Given the description of an element on the screen output the (x, y) to click on. 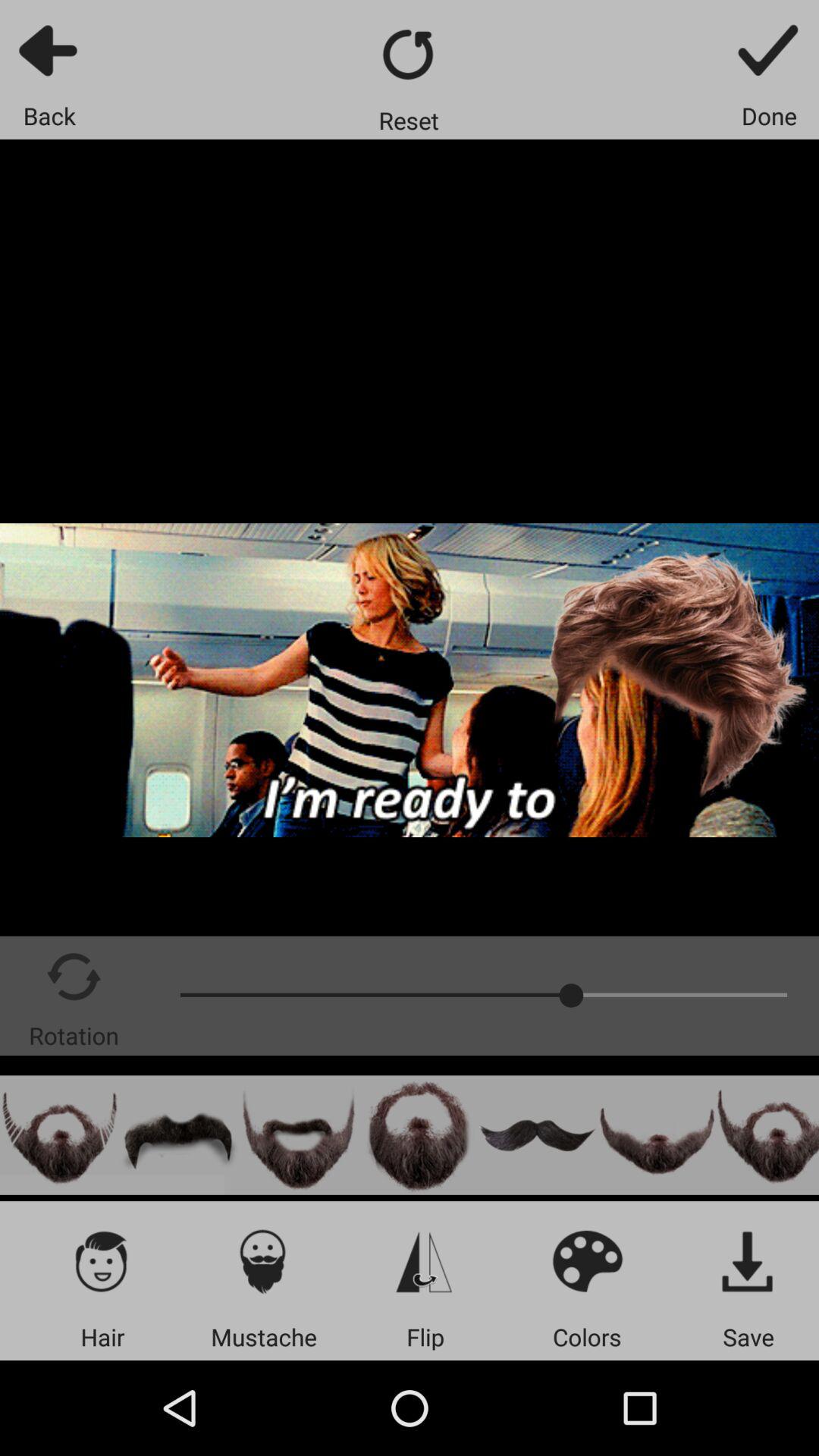
download option (748, 1260)
